Given the description of an element on the screen output the (x, y) to click on. 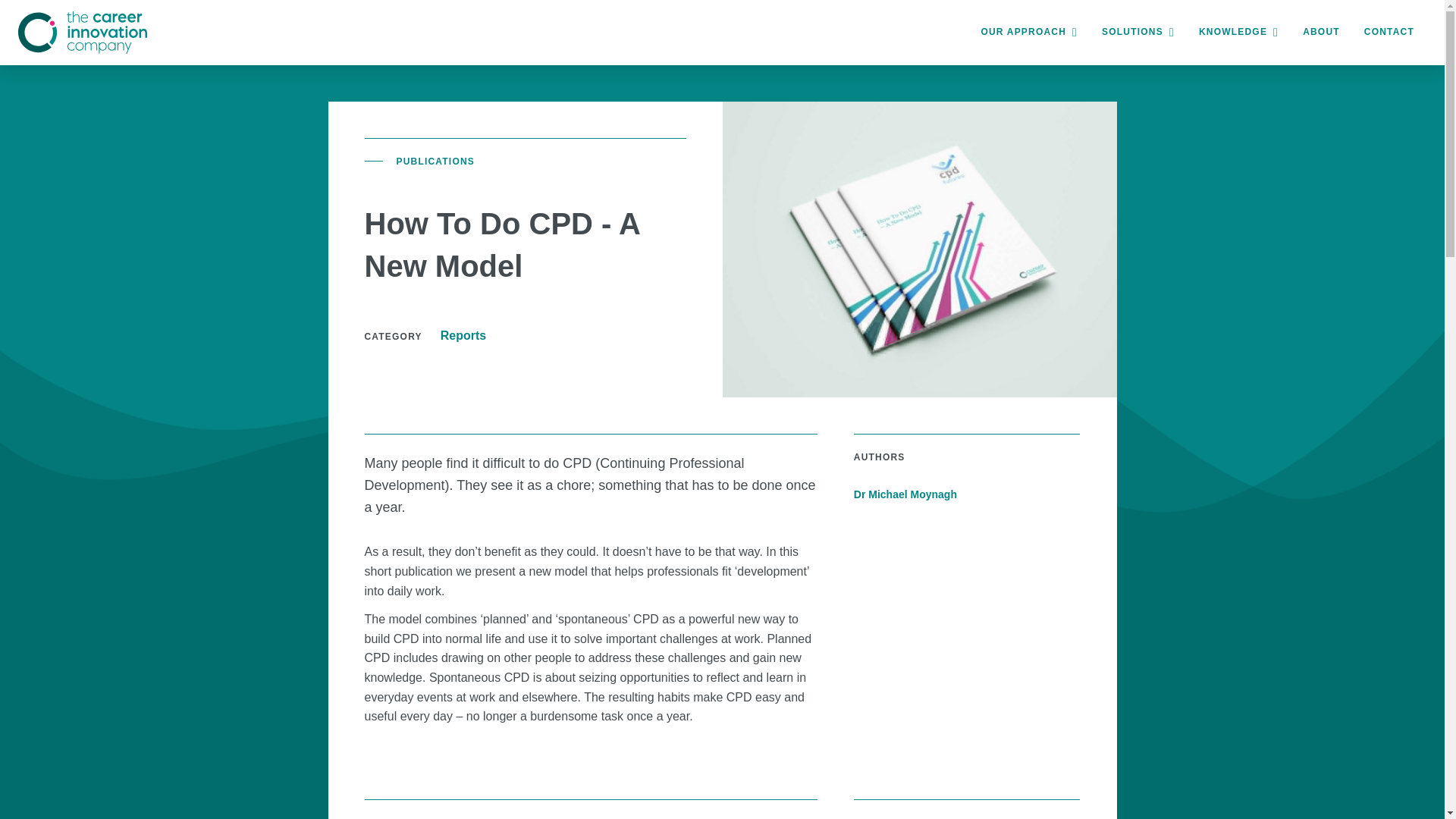
CONTACT (1389, 32)
The Career Innovation Company (82, 32)
ABOUT (1321, 32)
Reports (463, 335)
Dr Michael Moynagh (966, 494)
OUR APPROACH (1028, 32)
SOLUTIONS (1137, 32)
PUBLICATIONS (435, 161)
KNOWLEDGE (1238, 32)
